Given the description of an element on the screen output the (x, y) to click on. 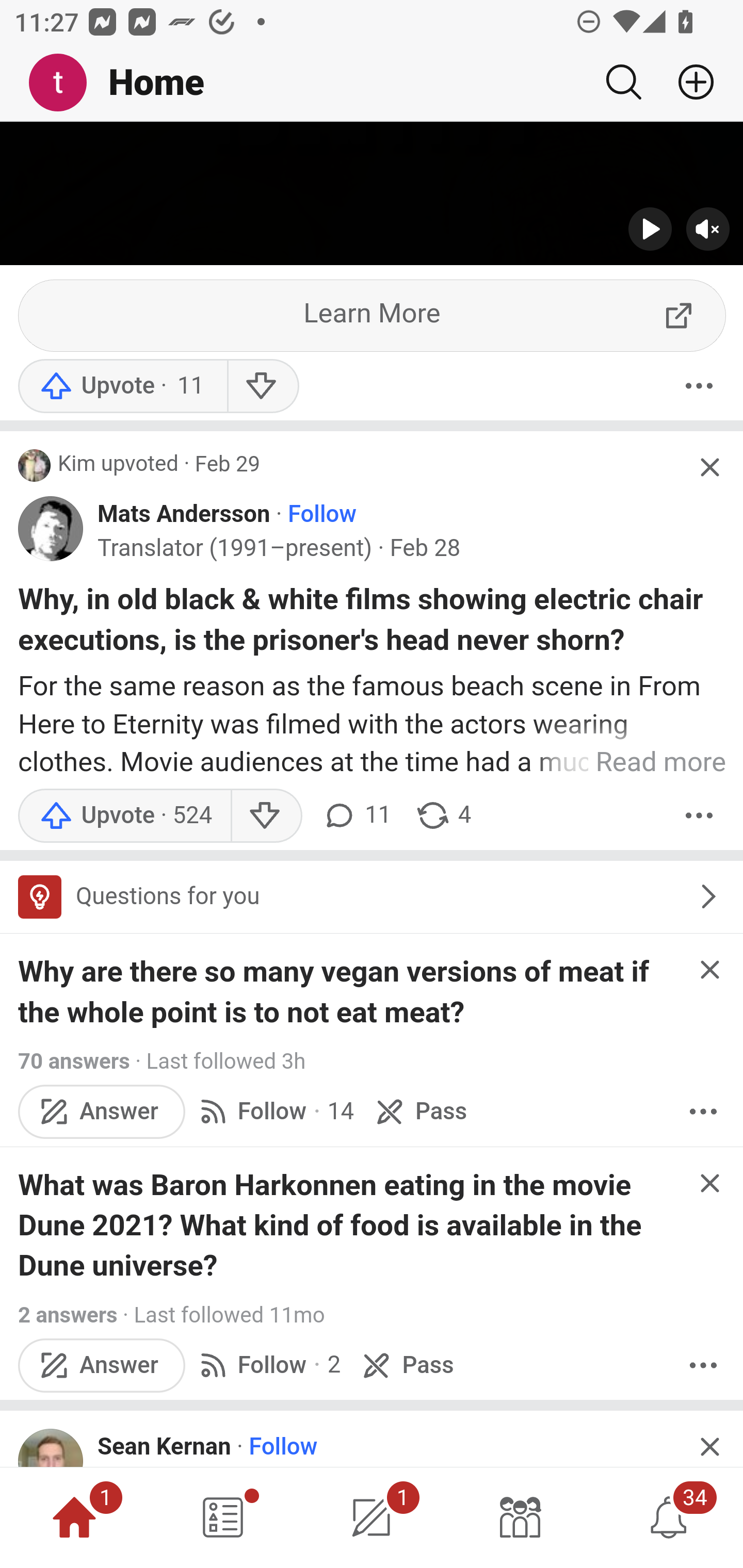
Me Home Search Add (371, 82)
Me (64, 83)
Search (623, 82)
Add (688, 82)
Play (650, 231)
VolumeMuted (708, 231)
Learn More ExternalLink (372, 317)
Upvote (122, 387)
Downvote (262, 387)
More (699, 387)
Hide (709, 469)
Profile photo for Kim Sikoryak (34, 467)
Kim (77, 466)
Feb 29 (227, 465)
Profile photo for Mats Andersson (50, 530)
Mats Andersson (184, 515)
Follow (321, 515)
Feb 28 (424, 550)
Upvote (124, 817)
Downvote (266, 817)
11 comments (356, 817)
4 shares (443, 817)
More (699, 817)
Questions for you (371, 899)
Hide (709, 971)
70 answers 70  answers (73, 1062)
Answer (101, 1113)
Follow · 14 (274, 1113)
Pass (419, 1113)
More (703, 1113)
Hide (709, 1185)
2 answers 2  answers (67, 1317)
Answer (101, 1366)
Follow · 2 (267, 1366)
Pass (405, 1366)
More (703, 1366)
Hide (709, 1440)
Profile photo for Sean Kernan (50, 1448)
Sean Kernan (164, 1448)
Follow (283, 1448)
1 (371, 1517)
34 (668, 1517)
